Given the description of an element on the screen output the (x, y) to click on. 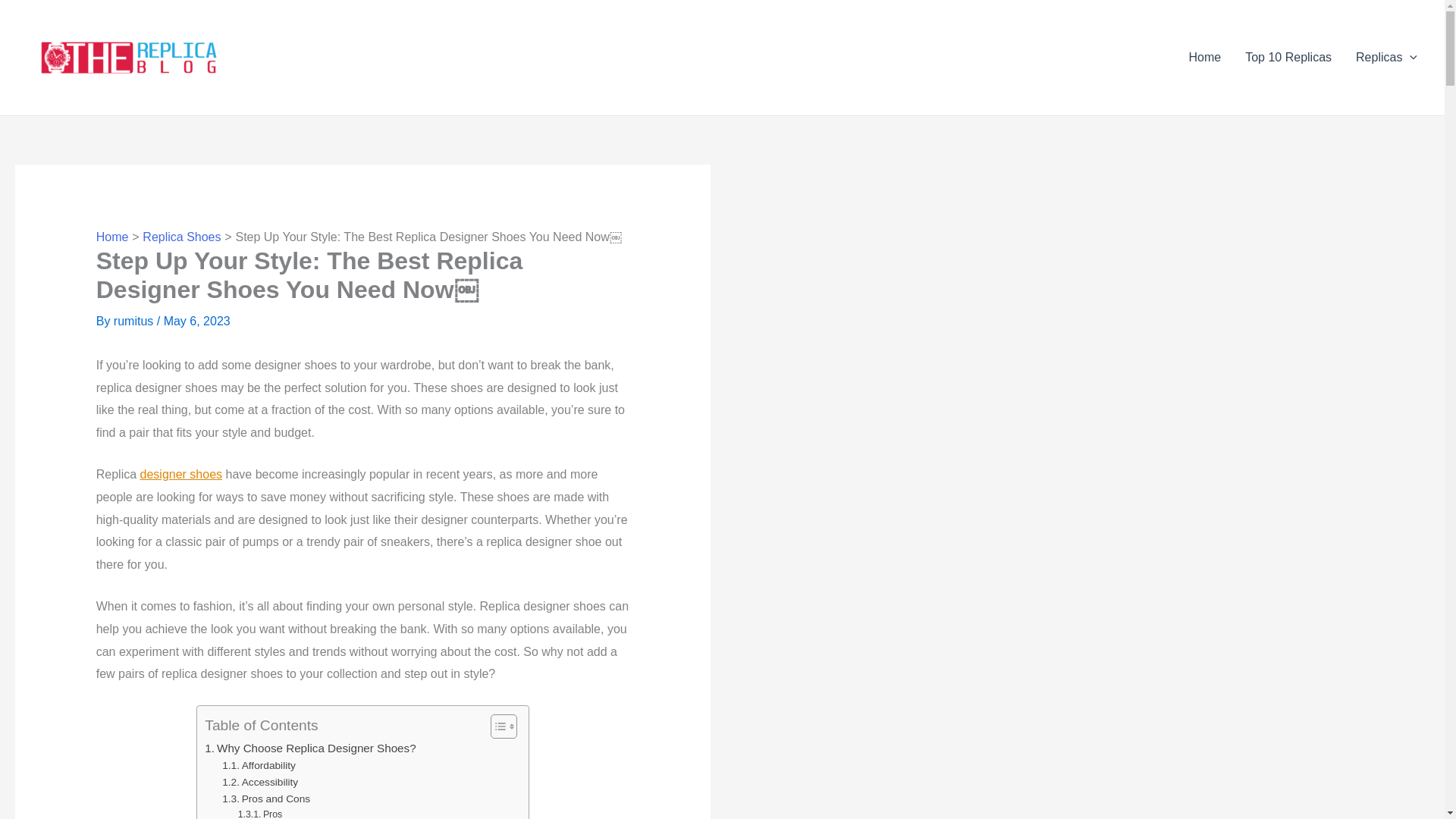
Top 10 Replicas (1288, 57)
View all posts by rumitus (135, 320)
designer shoes (180, 473)
Affordability (258, 765)
Pros (260, 813)
Affordability (258, 765)
Pros (260, 813)
Accessibility (260, 782)
rumitus (135, 320)
Replicas (1386, 57)
